Given the description of an element on the screen output the (x, y) to click on. 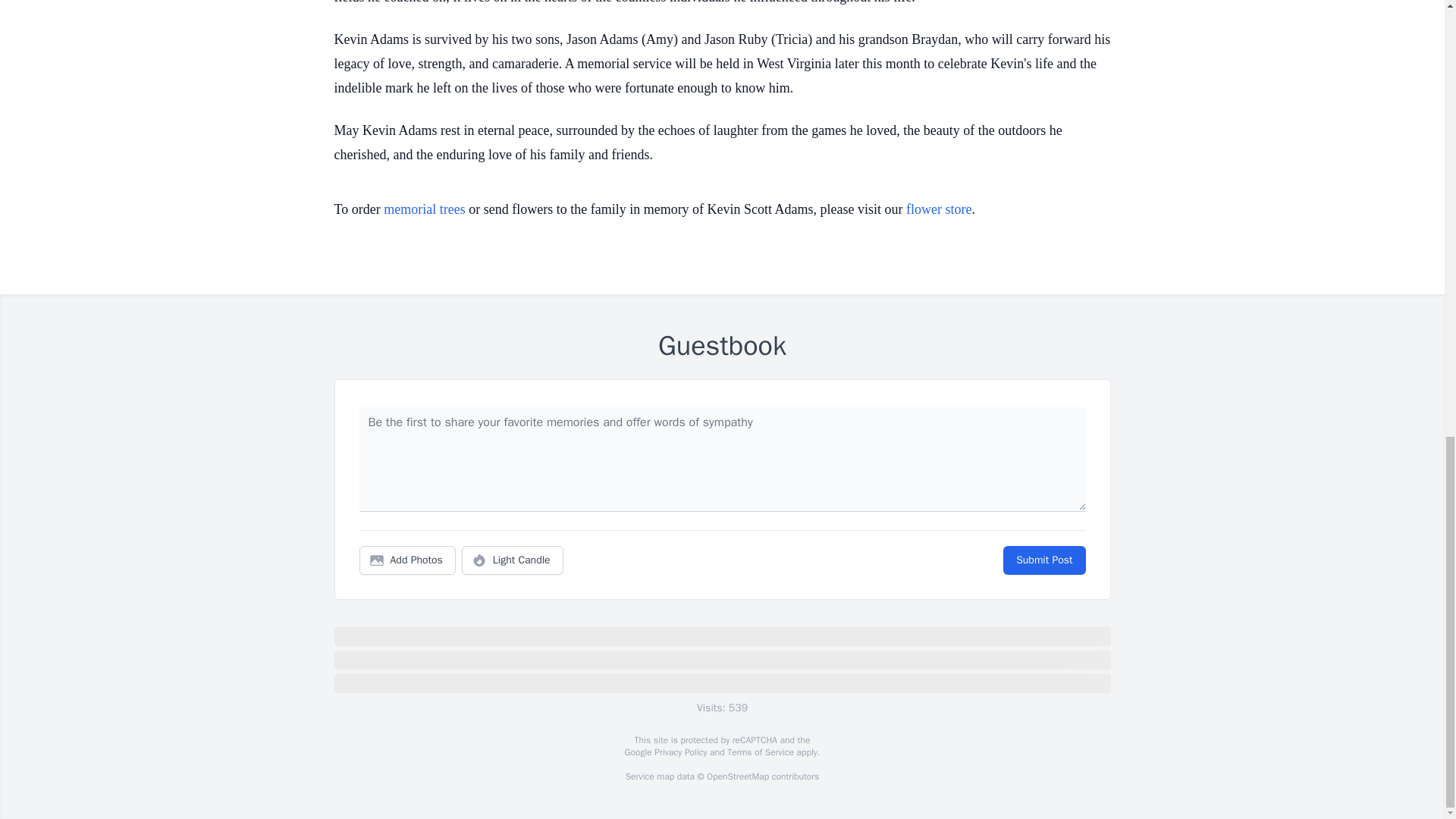
Privacy Policy (679, 752)
Terms of Service (759, 752)
Submit Post (1043, 560)
Add Photos (407, 560)
memorial trees (424, 209)
flower store (938, 209)
OpenStreetMap (737, 776)
Light Candle (512, 560)
